Given the description of an element on the screen output the (x, y) to click on. 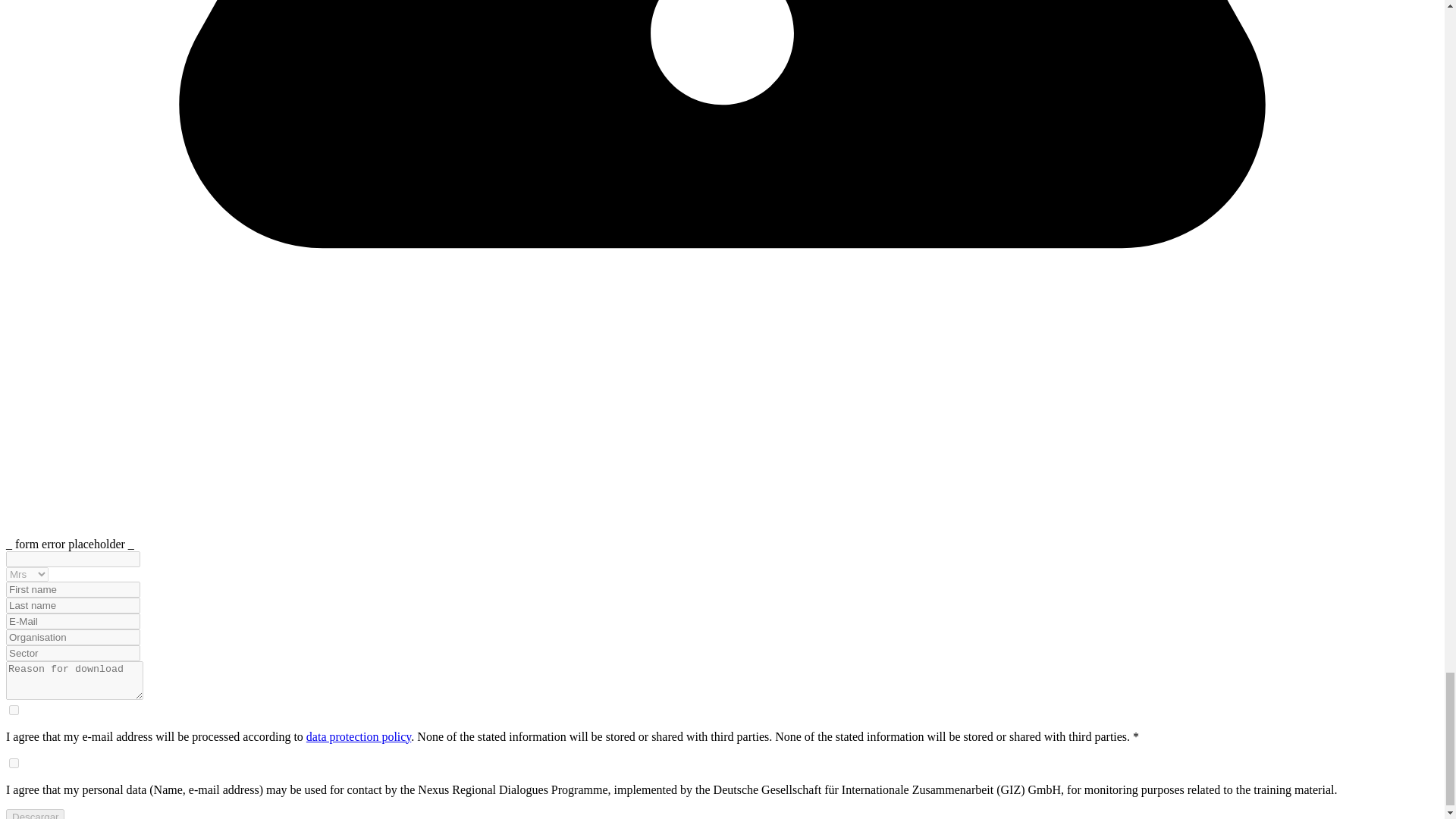
Yes (13, 763)
Yes (13, 709)
